Given the description of an element on the screen output the (x, y) to click on. 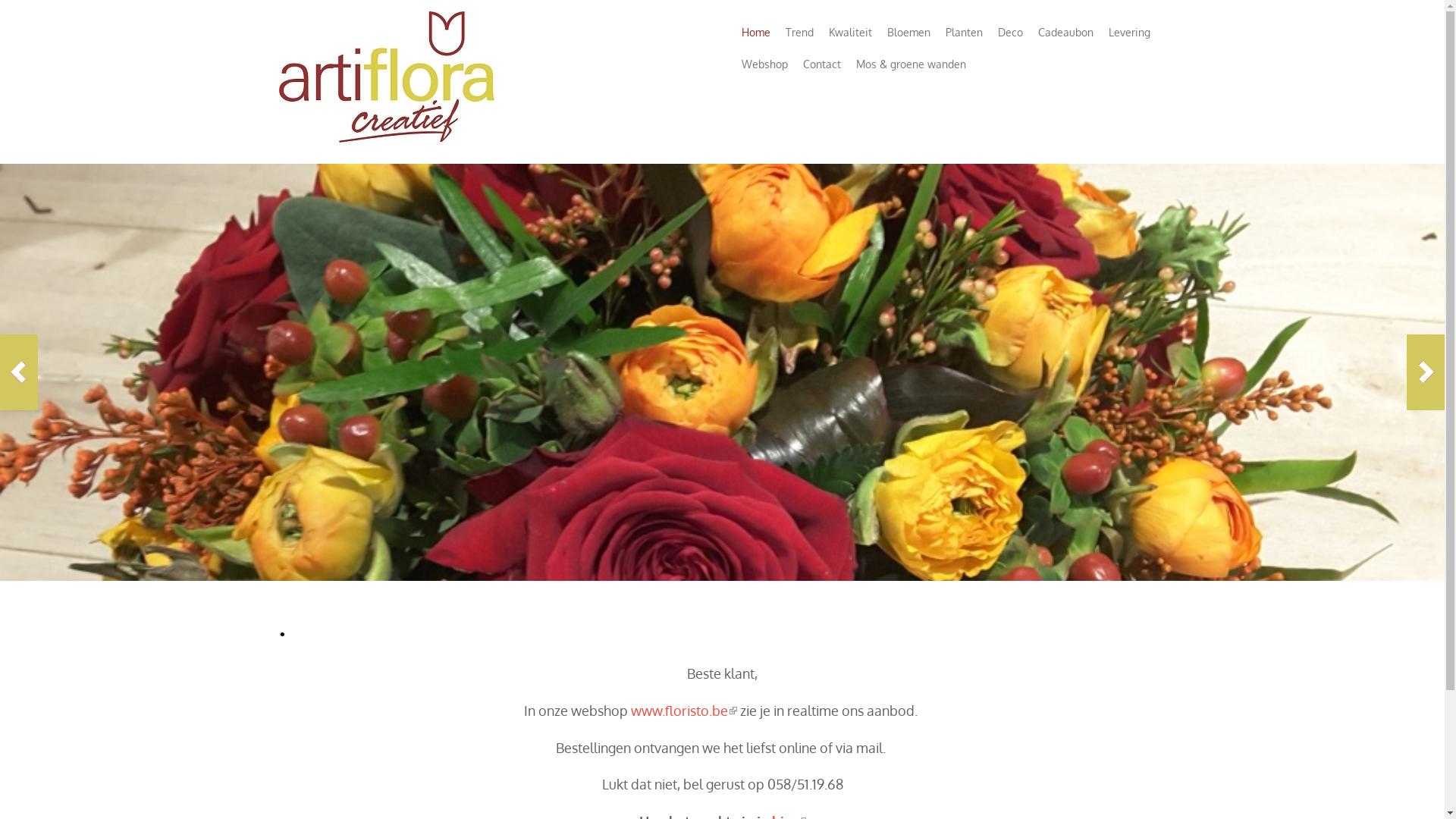
Planten Element type: text (963, 32)
Mos & groene wanden Element type: text (909, 64)
Kwaliteit Element type: text (849, 32)
Trend Element type: text (799, 32)
Bloemen Element type: text (908, 32)
www.floristo.be Element type: text (683, 710)
Cadeaubon Element type: text (1064, 32)
Levering Element type: text (1129, 32)
Webshop Element type: text (764, 64)
Next Element type: text (1425, 372)
Previous Element type: text (18, 372)
Home Element type: text (756, 32)
Home Element type: hover (389, 147)
Contact Element type: text (820, 64)
Deco Element type: text (1010, 32)
